Given the description of an element on the screen output the (x, y) to click on. 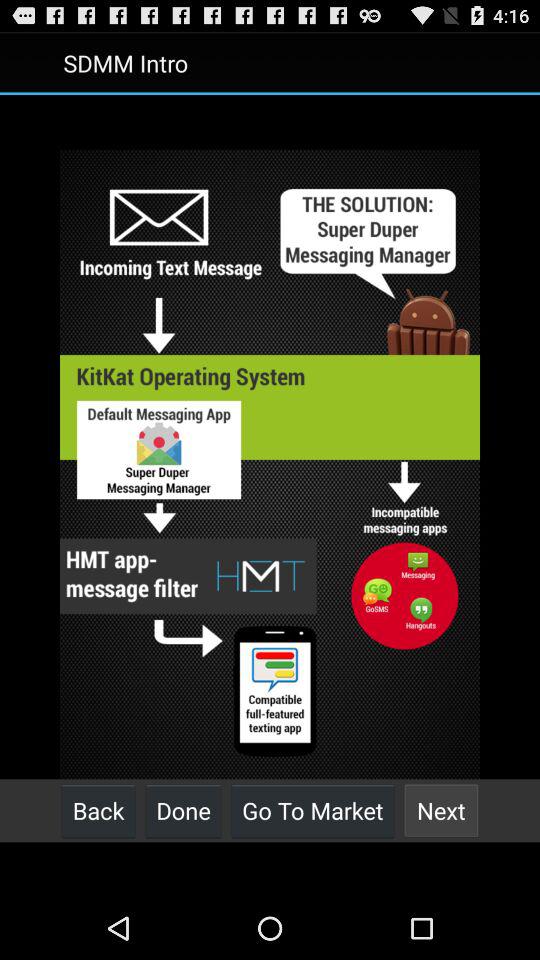
click the button next to the done button (312, 810)
